Given the description of an element on the screen output the (x, y) to click on. 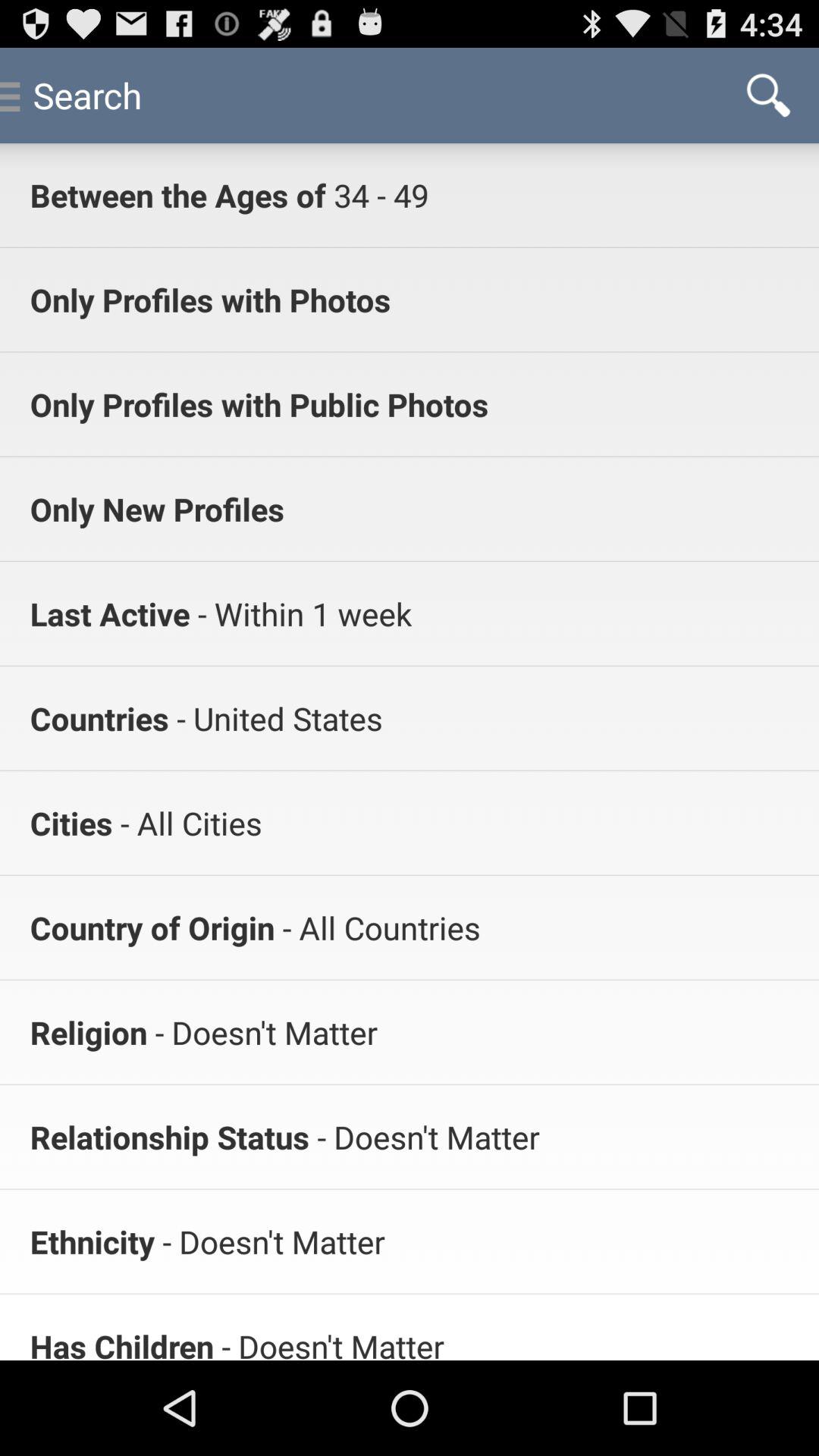
press the icon next to the  - all countries app (152, 927)
